Given the description of an element on the screen output the (x, y) to click on. 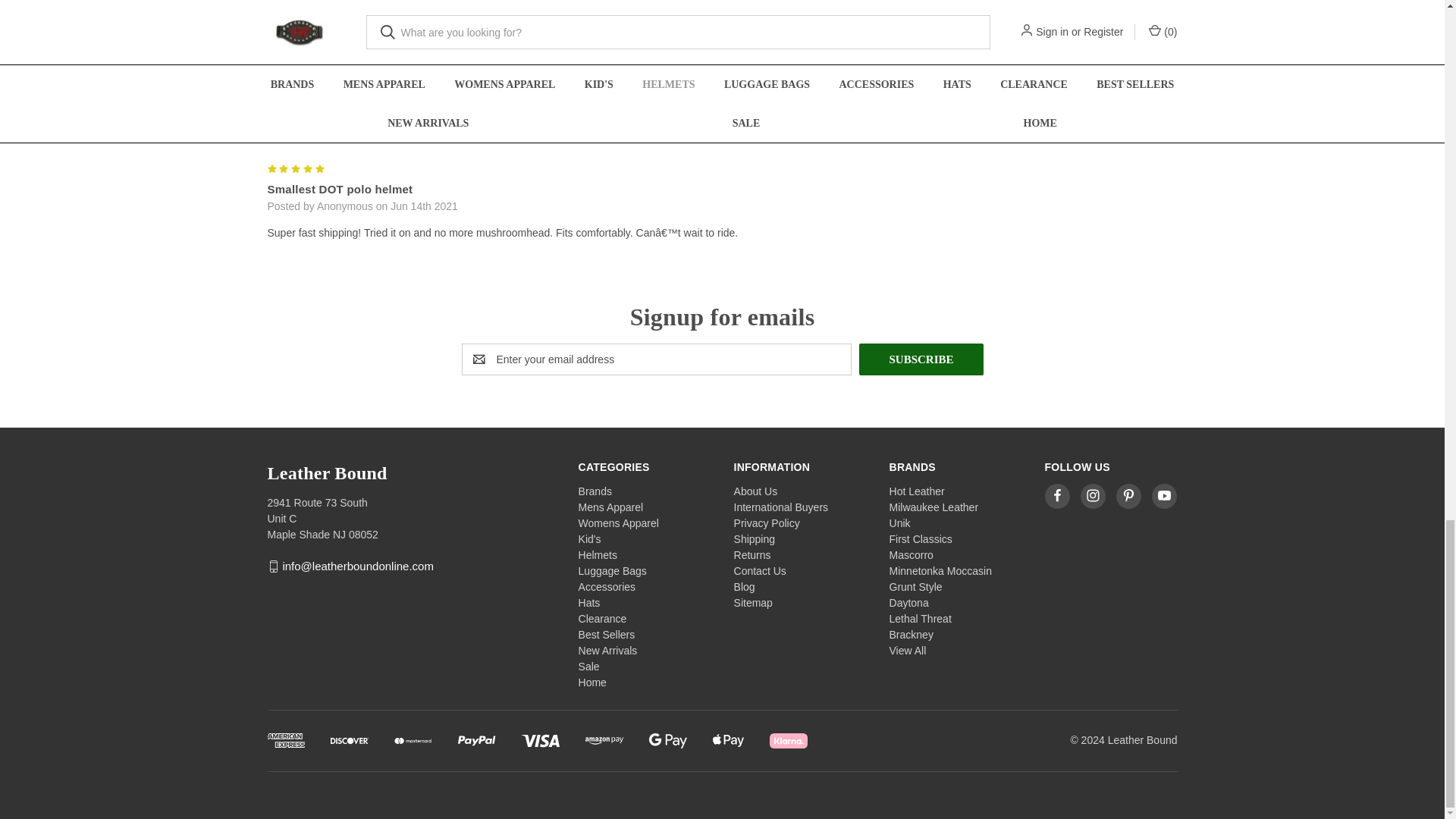
Subscribe (920, 359)
